Given the description of an element on the screen output the (x, y) to click on. 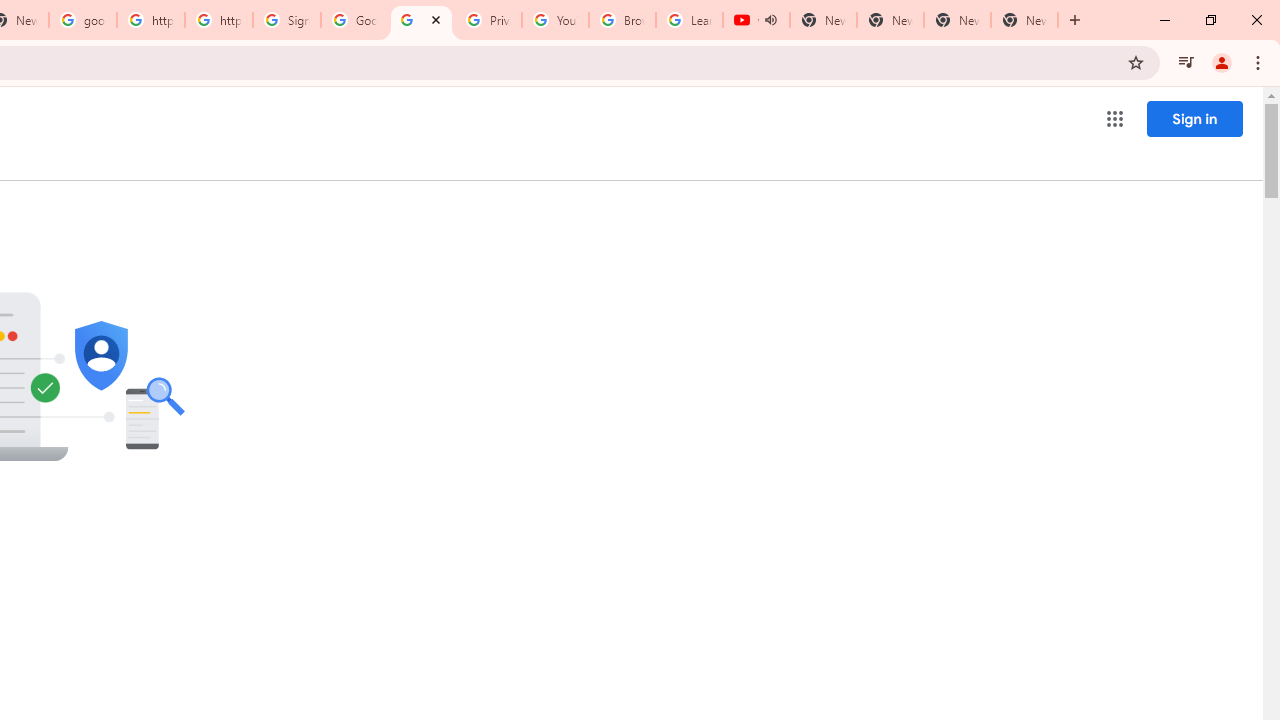
New Tab (1024, 20)
YouTube (555, 20)
